Given the description of an element on the screen output the (x, y) to click on. 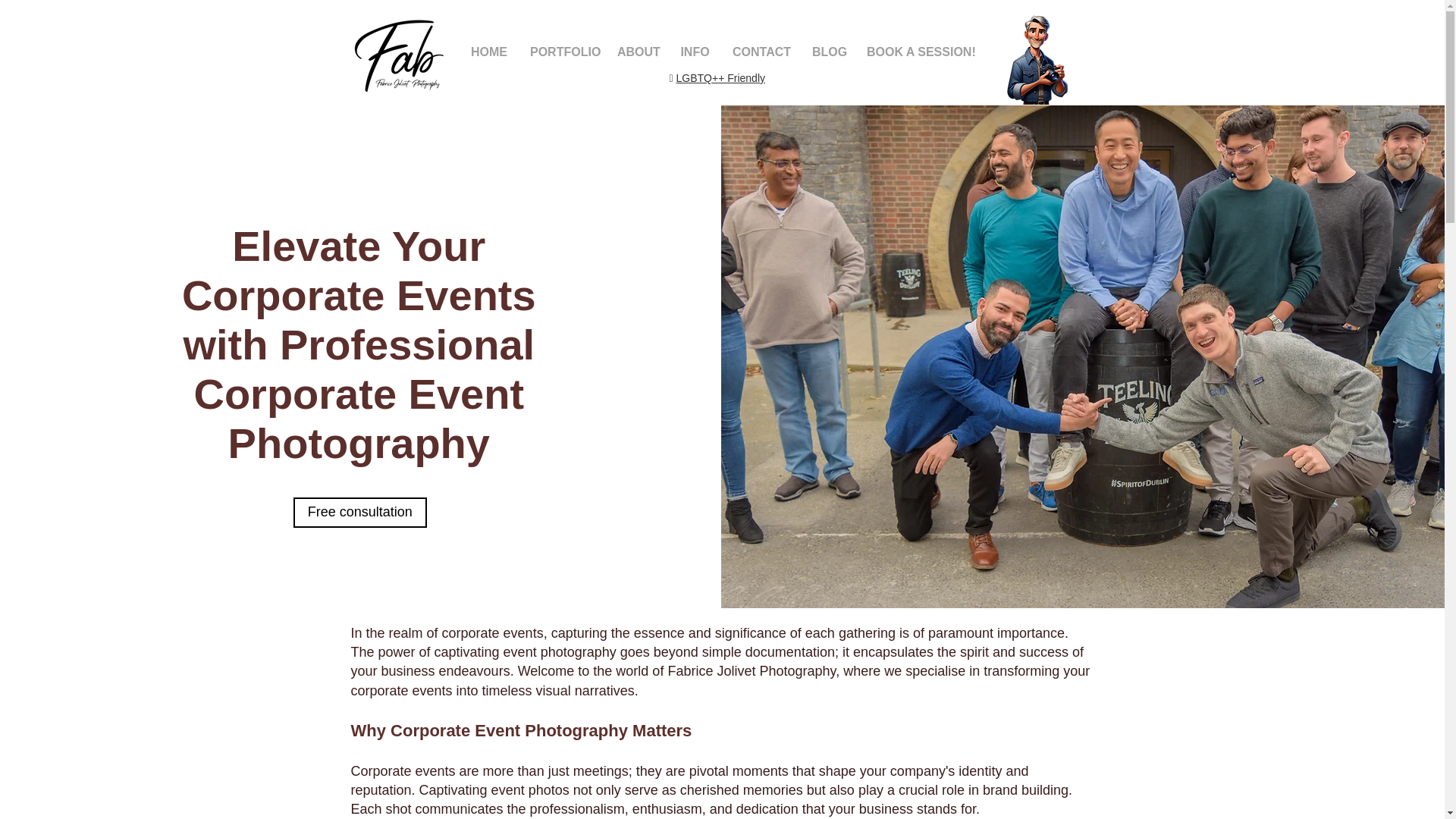
BLOG (828, 51)
BOOK A SESSION! (920, 51)
INFO (694, 51)
Free consultation (360, 512)
ABOUT (636, 51)
HOME (489, 51)
CONTACT (760, 51)
